Given the description of an element on the screen output the (x, y) to click on. 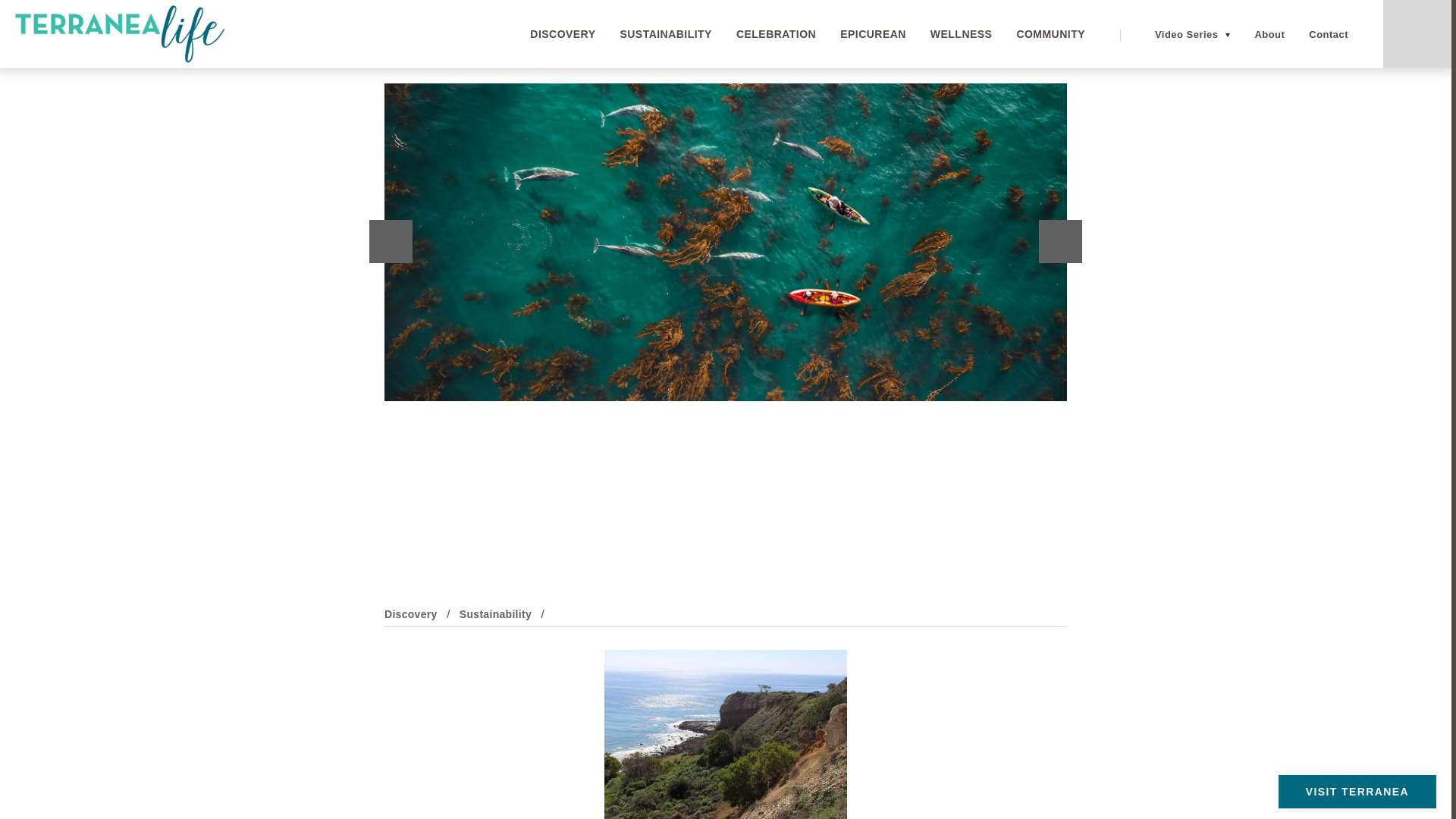
WELLNESS (961, 33)
Previous (390, 241)
SUSTAINABILITY (665, 33)
DISCOVERY (562, 33)
COMMUNITY (1050, 33)
EPICUREAN (872, 33)
Next (1060, 241)
CELEBRATION (775, 33)
Video Series (1185, 33)
